Given the description of an element on the screen output the (x, y) to click on. 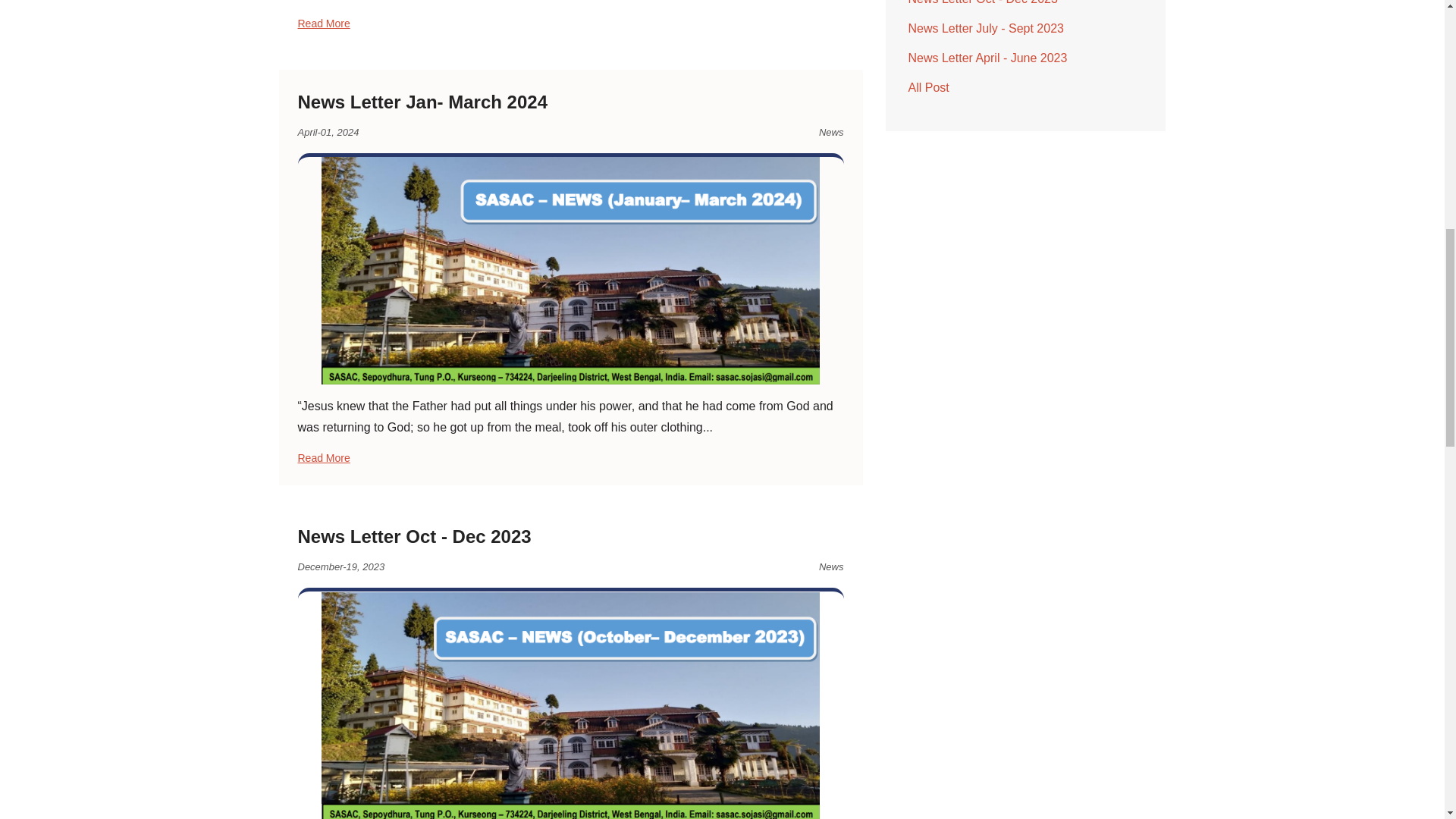
News Letter Oct - Dec 2023 (983, 2)
News Letter July - Sept 2023 (986, 28)
All Post (928, 87)
News Letter April - June 2023 (987, 57)
Read More (570, 458)
Read More (570, 23)
